Given the description of an element on the screen output the (x, y) to click on. 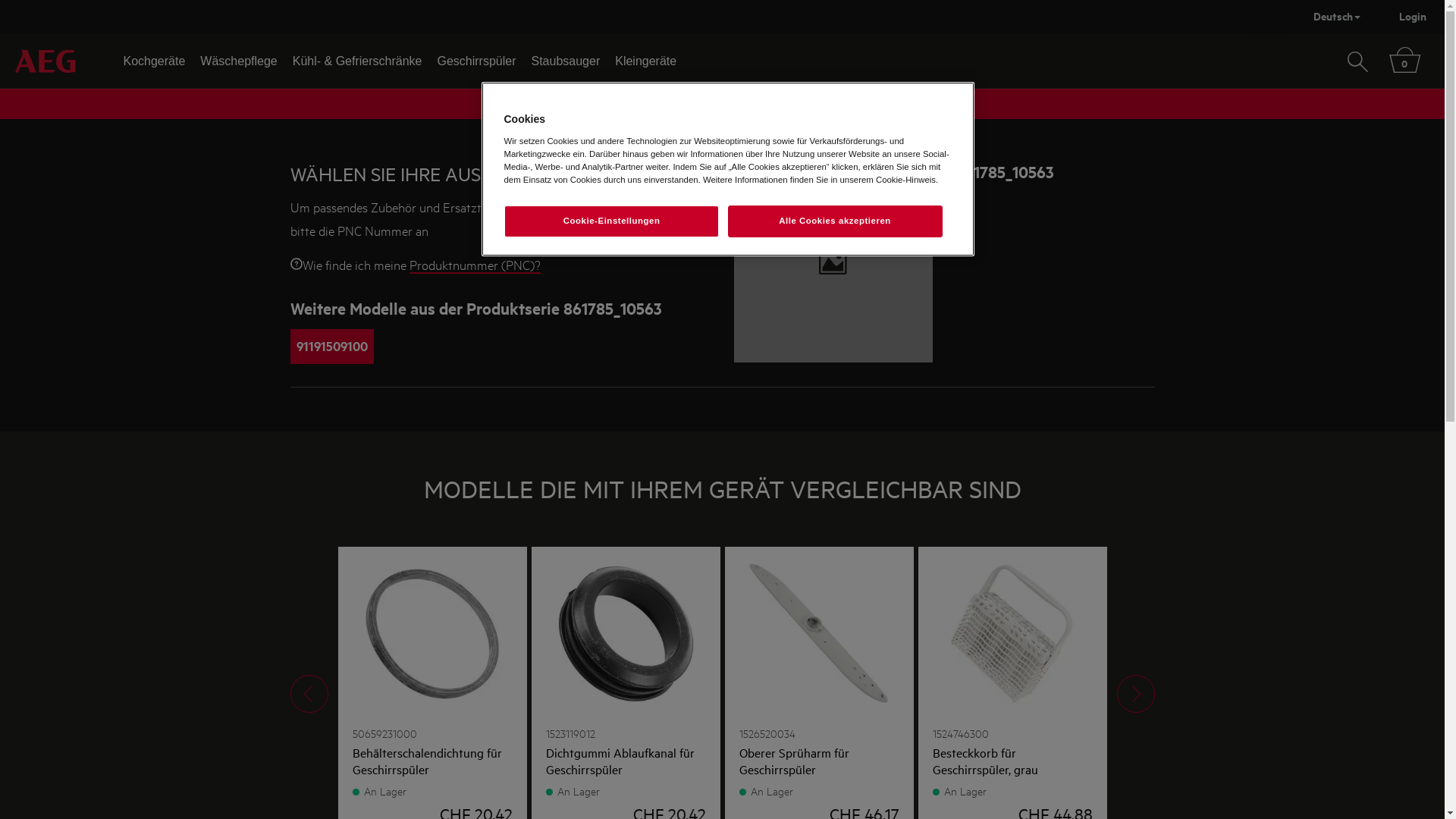
91191509100 Element type: text (331, 346)
Suche Element type: text (1357, 59)
AEG CH Element type: text (45, 60)
Alle Cookies akzeptieren Element type: text (835, 221)
0
Warenkorb Element type: text (1403, 59)
Produktnummer (PNC)? Element type: text (474, 265)
Staubsauger Element type: text (565, 60)
Cookie-Einstellungen Element type: text (611, 221)
